Given the description of an element on the screen output the (x, y) to click on. 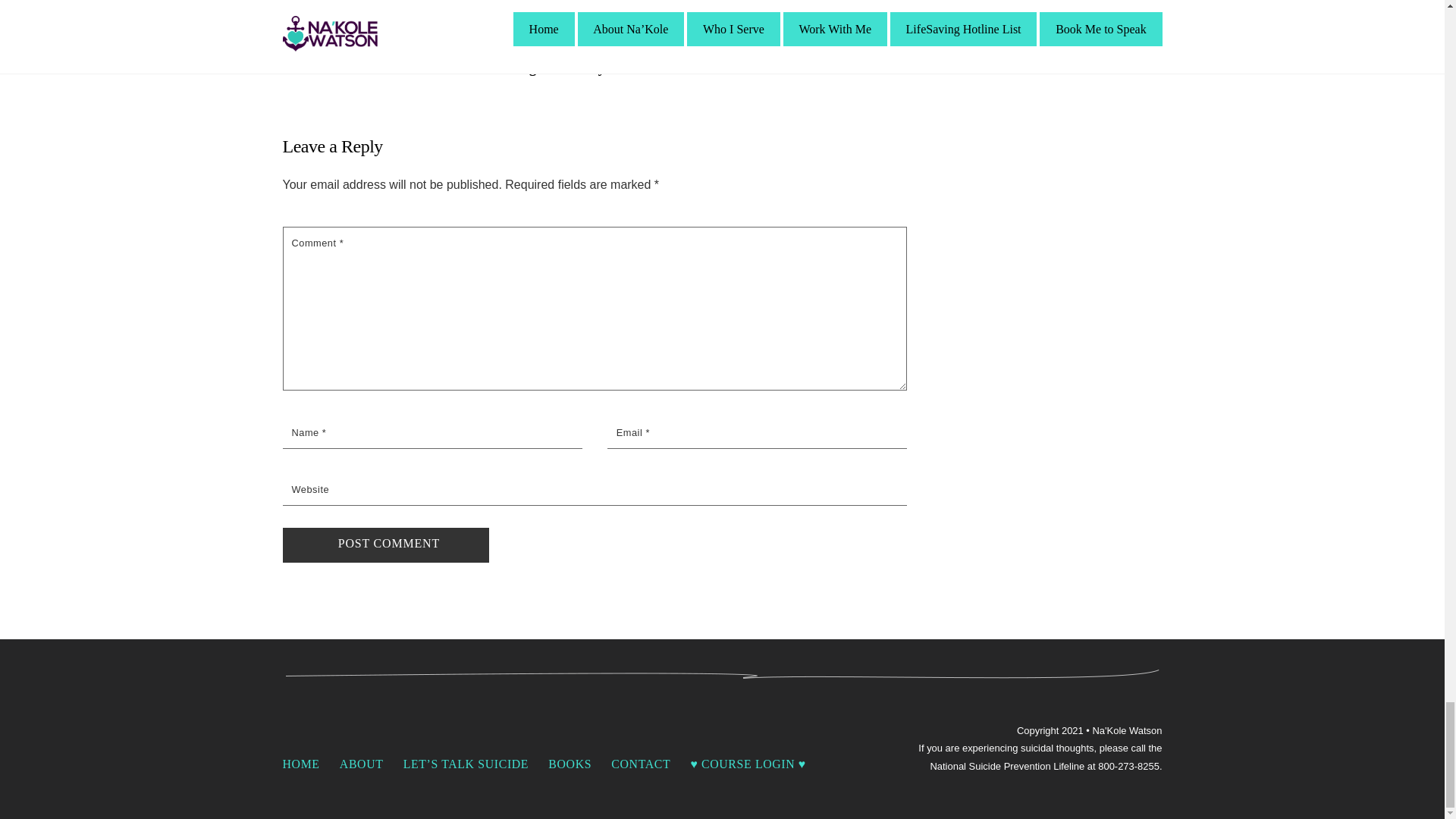
Post Comment (384, 544)
How to Cope with Bereavement During the Holidays (585, 59)
Post Comment (384, 544)
BOOKS (569, 763)
INSPIRATION (524, 31)
HOME (300, 763)
INSPIRATION (311, 31)
INSPIRATION (736, 31)
CONTACT (640, 763)
ABOUT (361, 763)
